Given the description of an element on the screen output the (x, y) to click on. 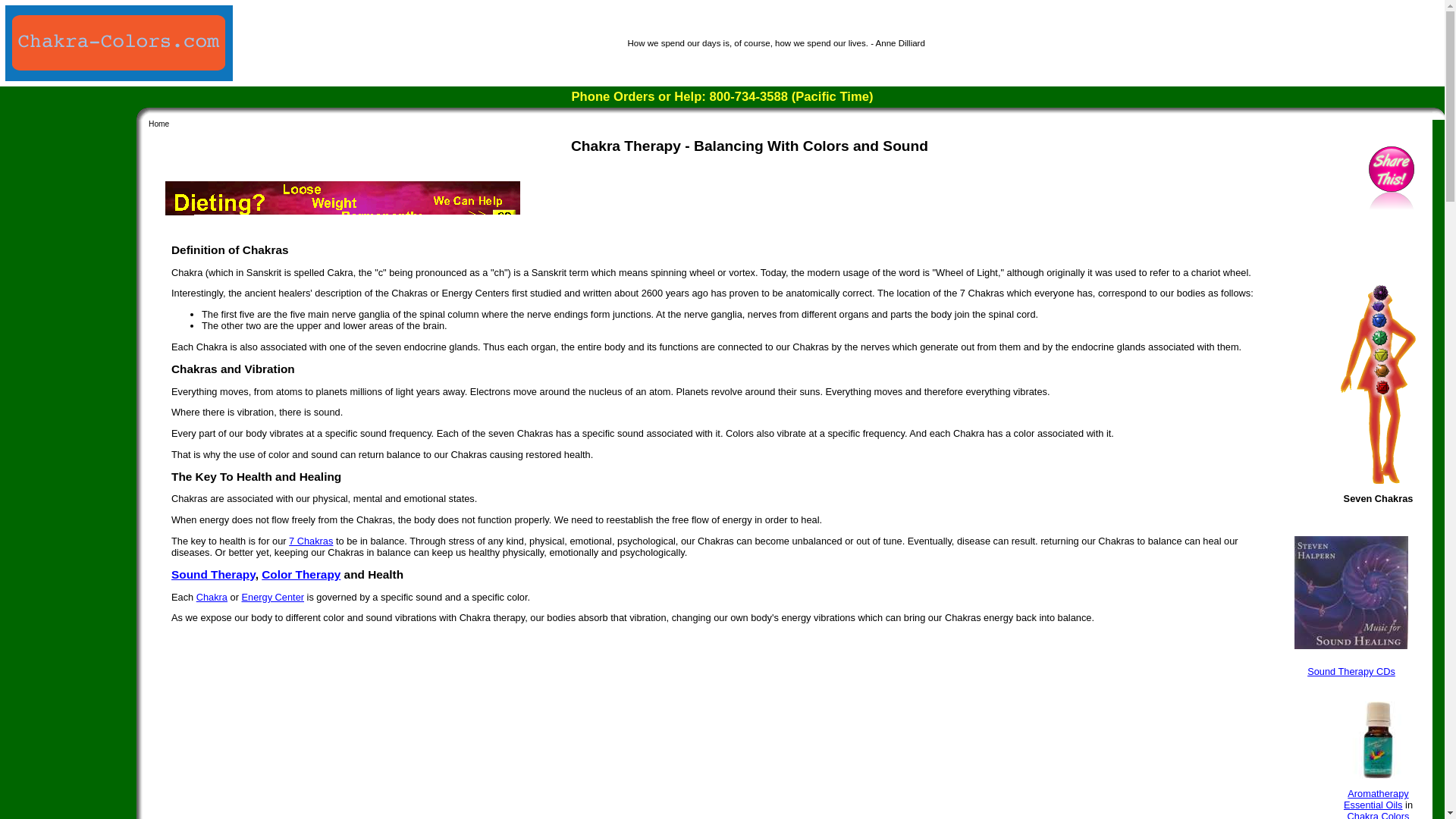
Chakra (211, 596)
Sound Therapy (213, 574)
Advertisement (342, 203)
Color Therapy (301, 574)
Share This Page (1391, 207)
7 Chakras (310, 541)
Chakra Colors (1380, 814)
Energy Center (272, 596)
Sound Therapy CDs (1350, 671)
Essential Oils (1373, 804)
